Given the description of an element on the screen output the (x, y) to click on. 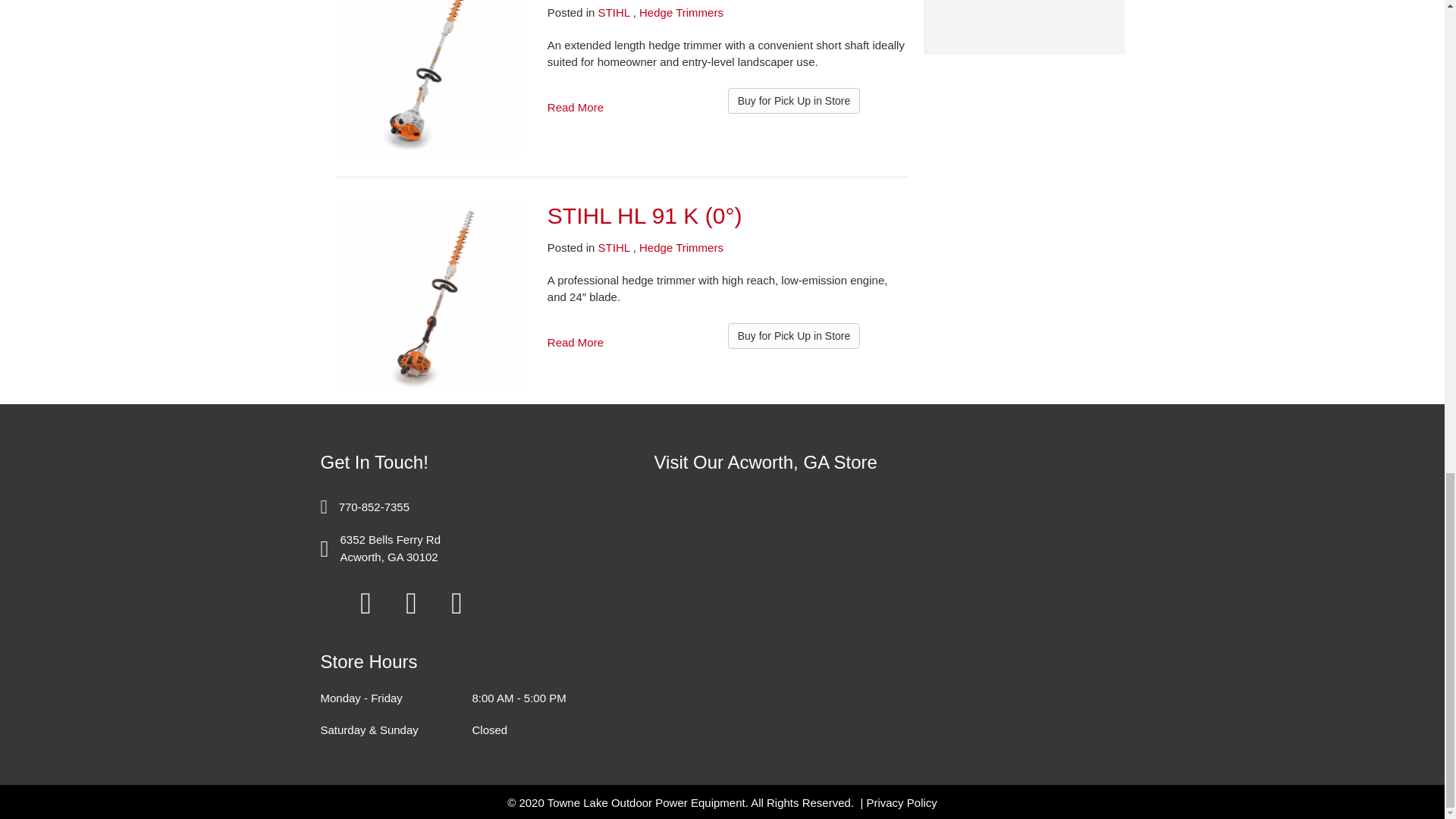
Read More (575, 106)
